Given the description of an element on the screen output the (x, y) to click on. 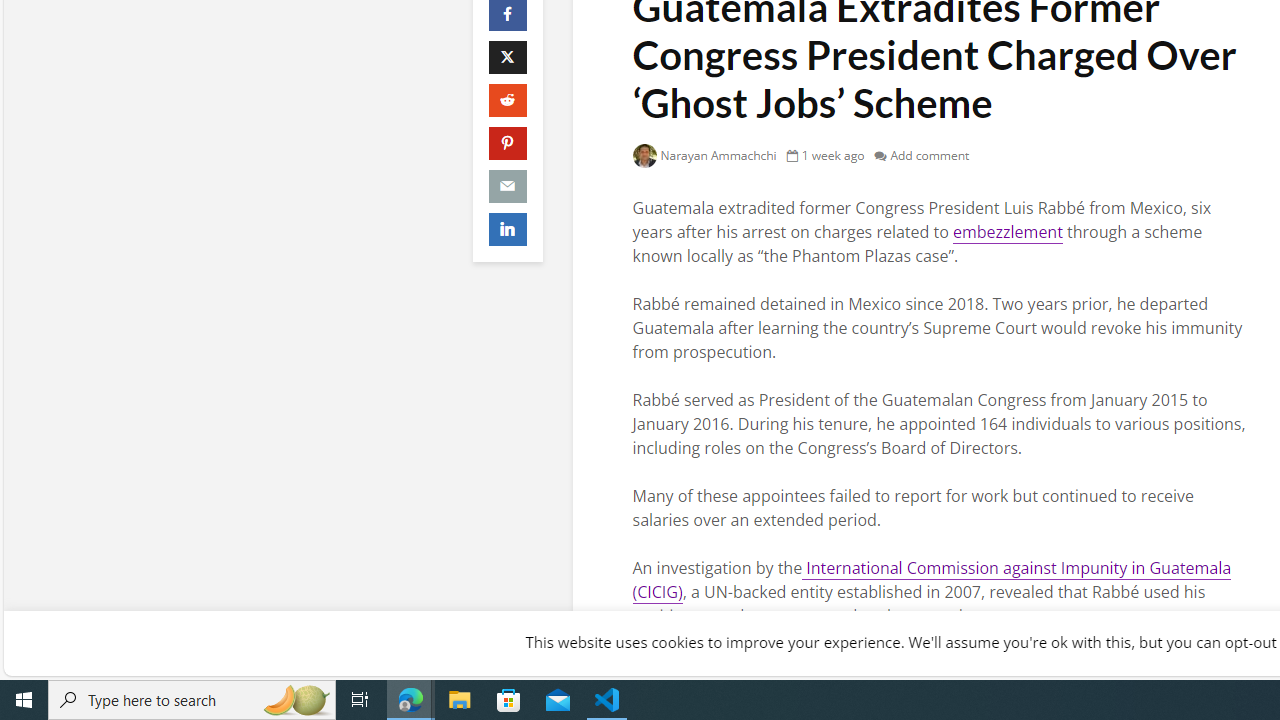
embezzlement (1007, 232)
Narayan Ammachchi (704, 155)
